Given the description of an element on the screen output the (x, y) to click on. 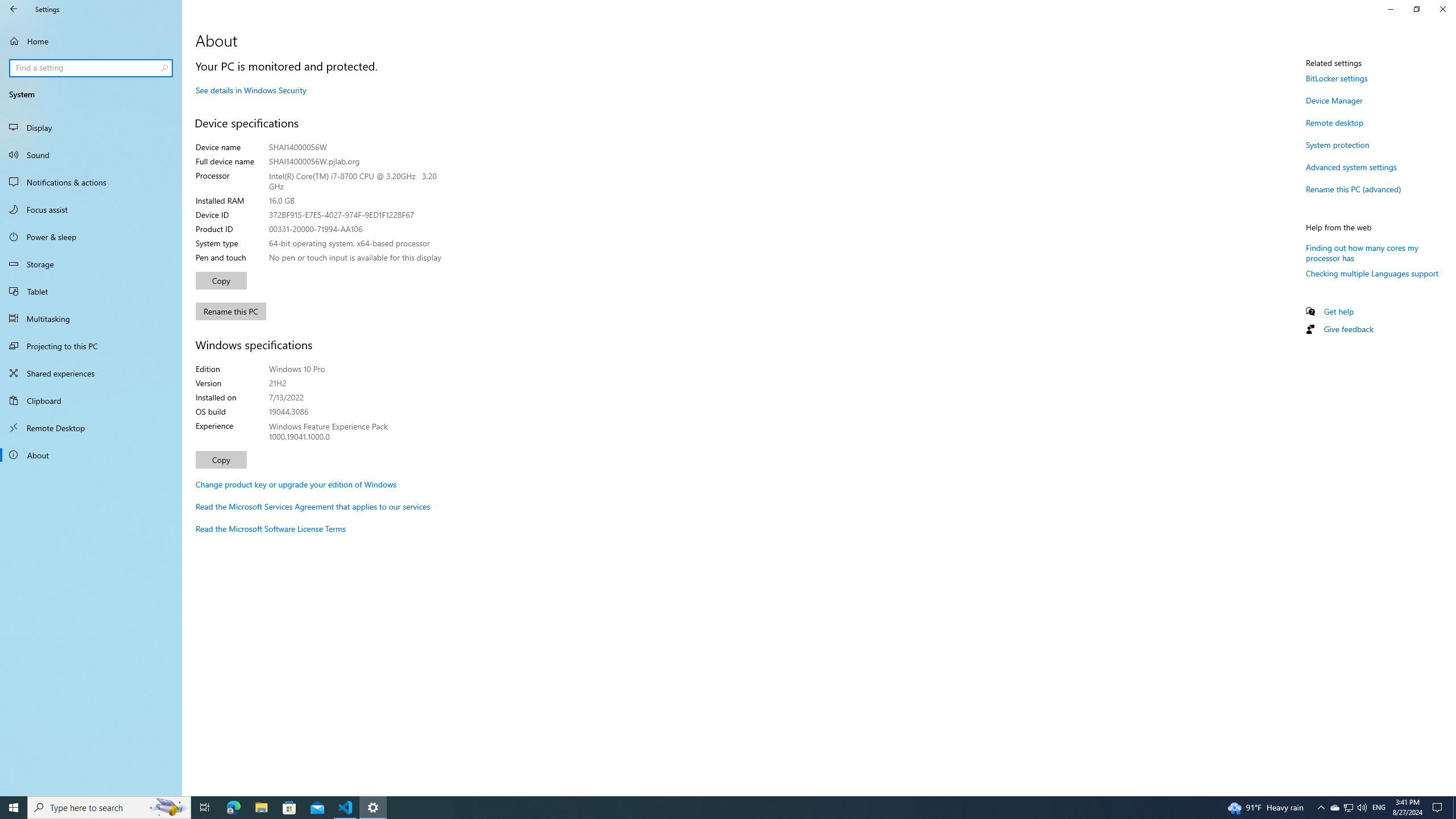
Focus assist (91, 208)
Read the Microsoft Software License Terms (270, 528)
System protection (1338, 144)
Rename this PC (advanced) (1353, 188)
Display (91, 126)
Advanced system settings (1351, 166)
Copy (221, 459)
